Given the description of an element on the screen output the (x, y) to click on. 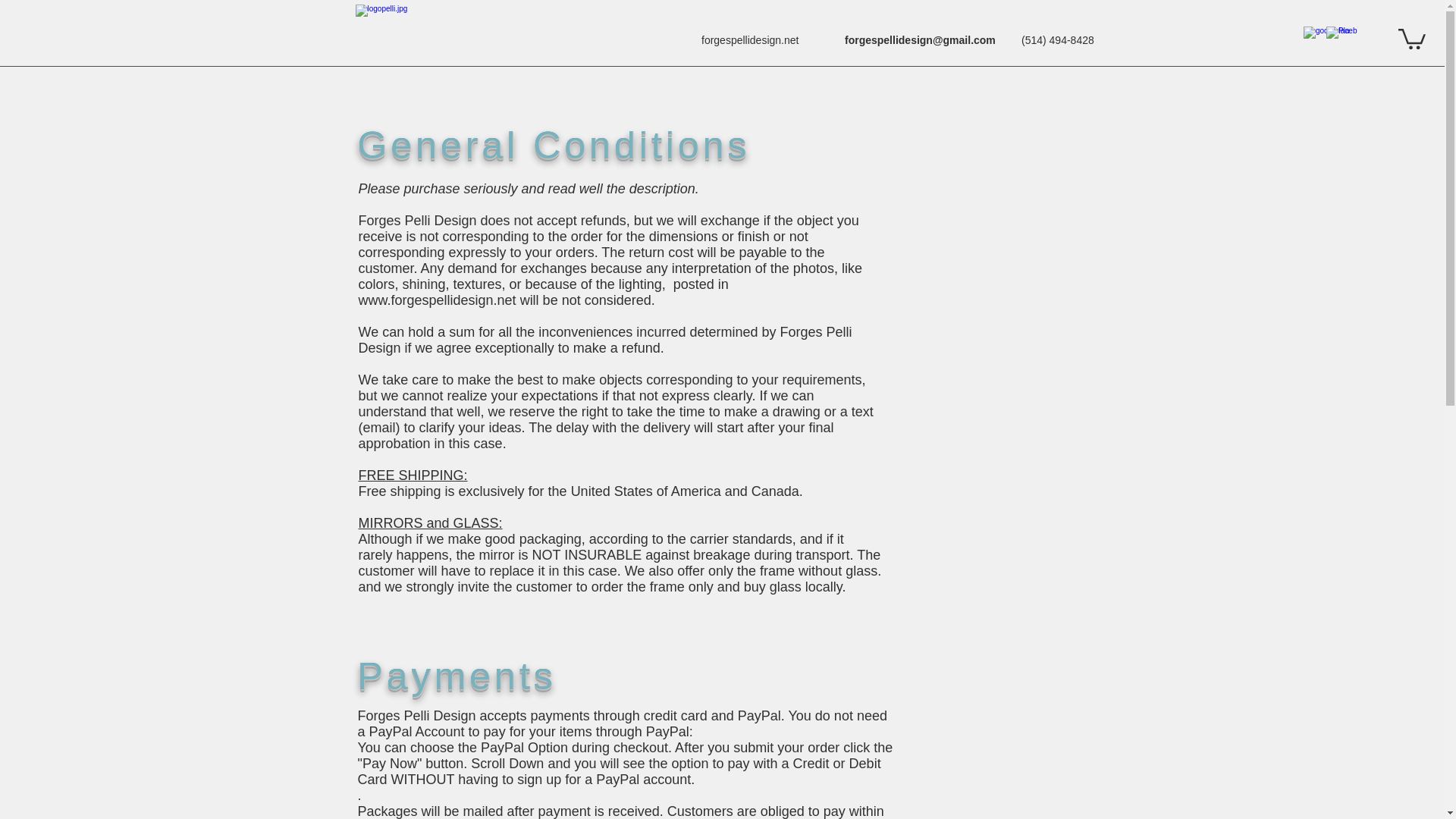
www.forgespellidesign.net (436, 299)
